Given the description of an element on the screen output the (x, y) to click on. 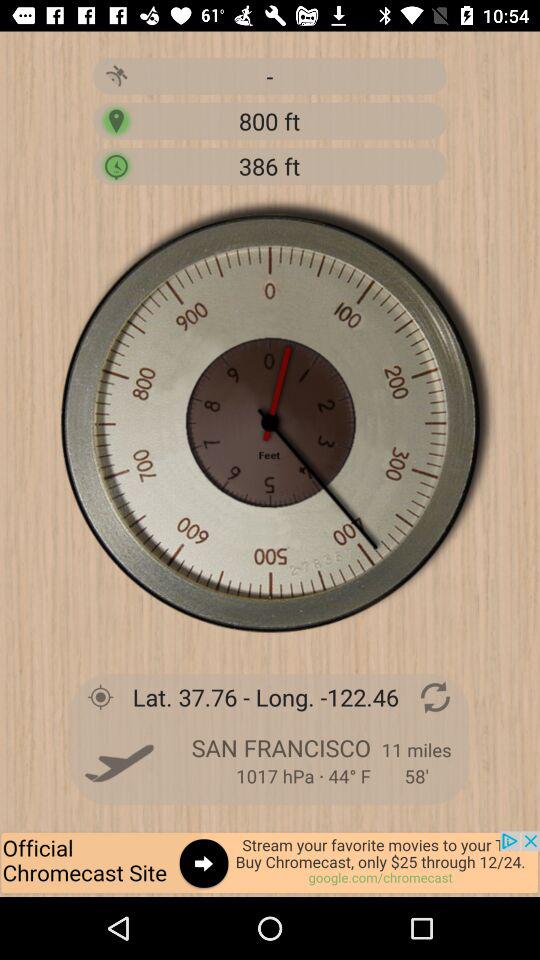
select location icon (115, 120)
click on the image above lat3776long12246 (269, 421)
click on the icon which is above location icon (115, 75)
select a timer icon which is before 386 ft on a page (115, 165)
